Given the description of an element on the screen output the (x, y) to click on. 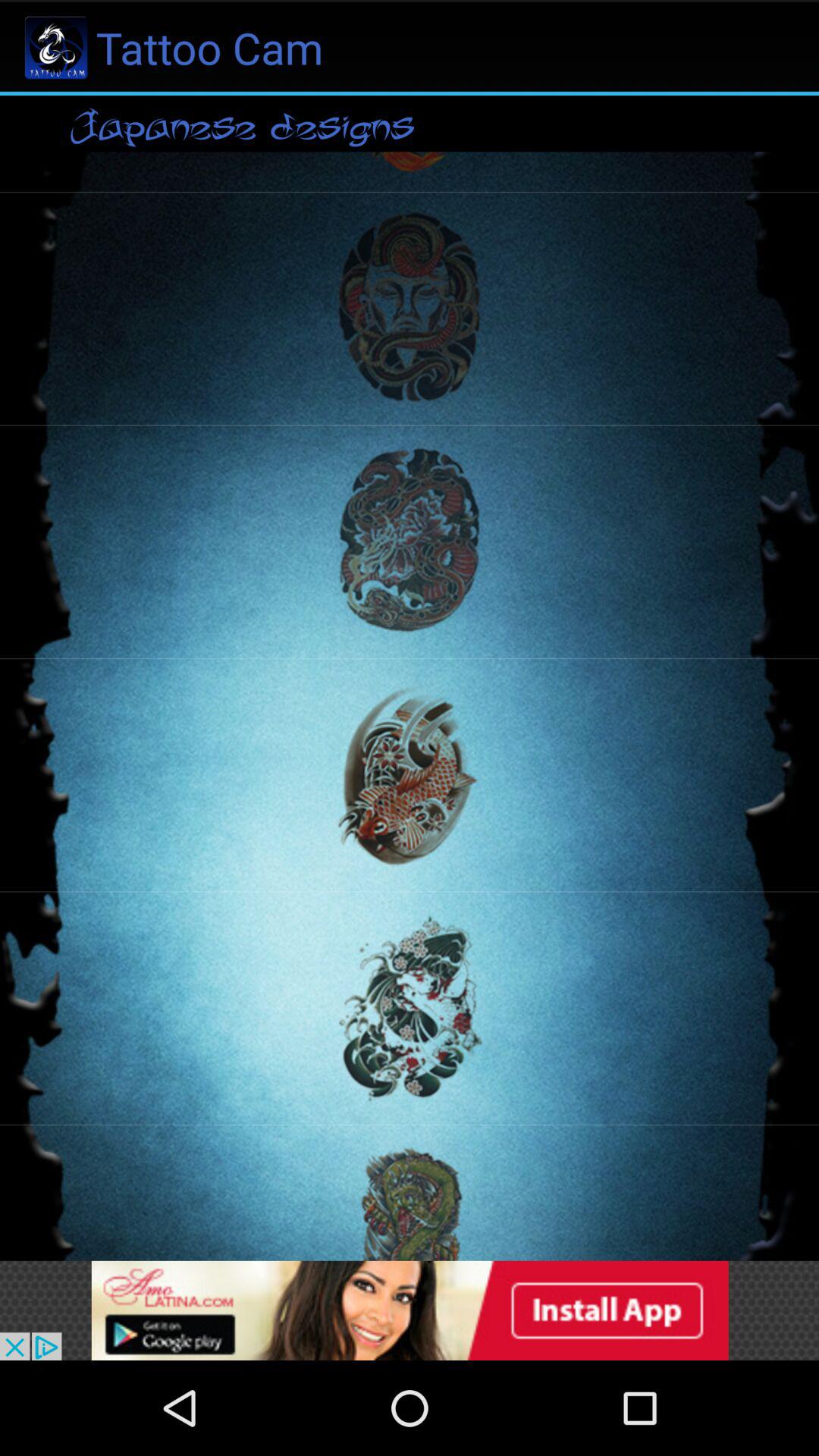
advertisement (409, 1310)
